Given the description of an element on the screen output the (x, y) to click on. 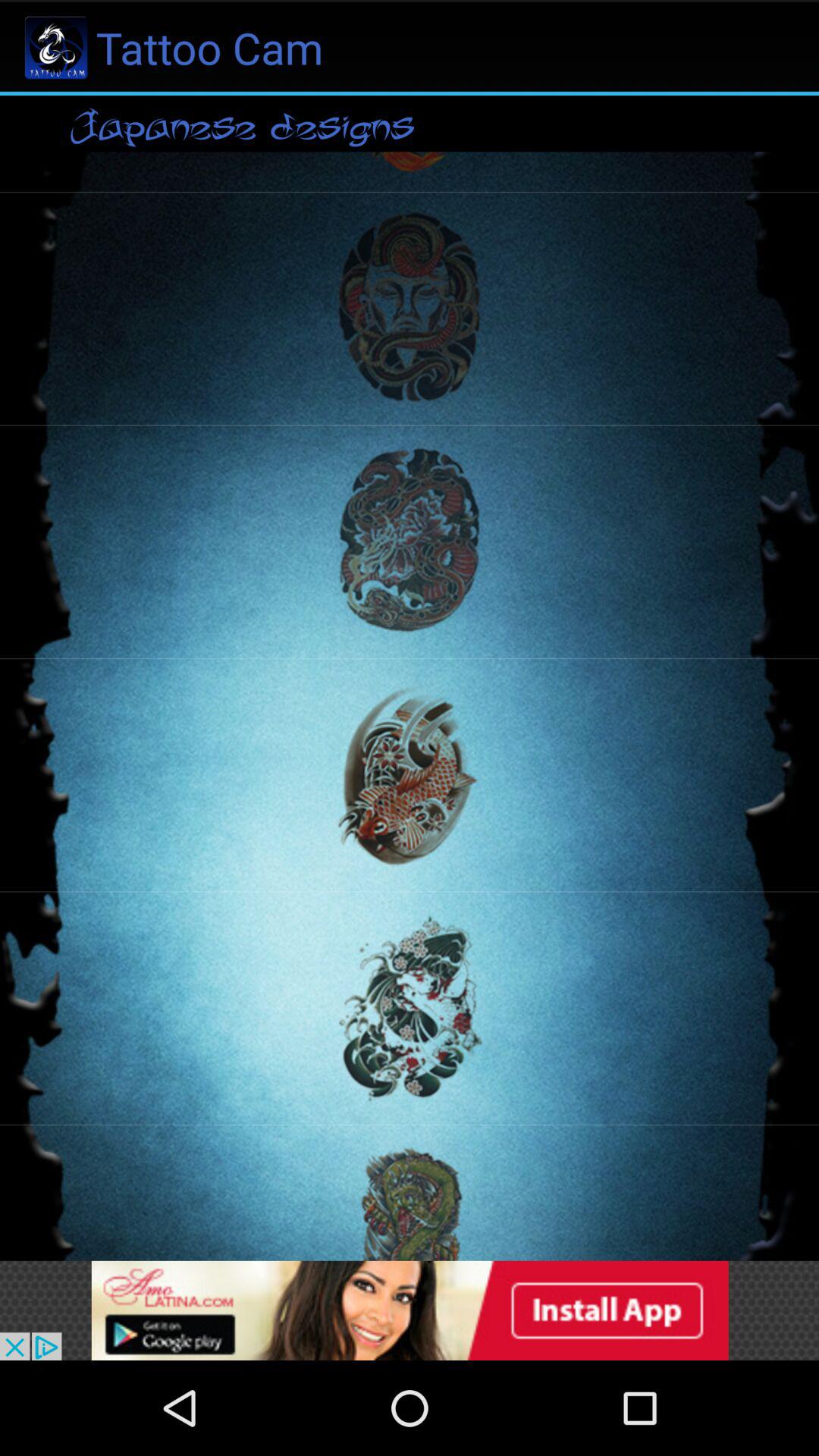
advertisement (409, 1310)
